Given the description of an element on the screen output the (x, y) to click on. 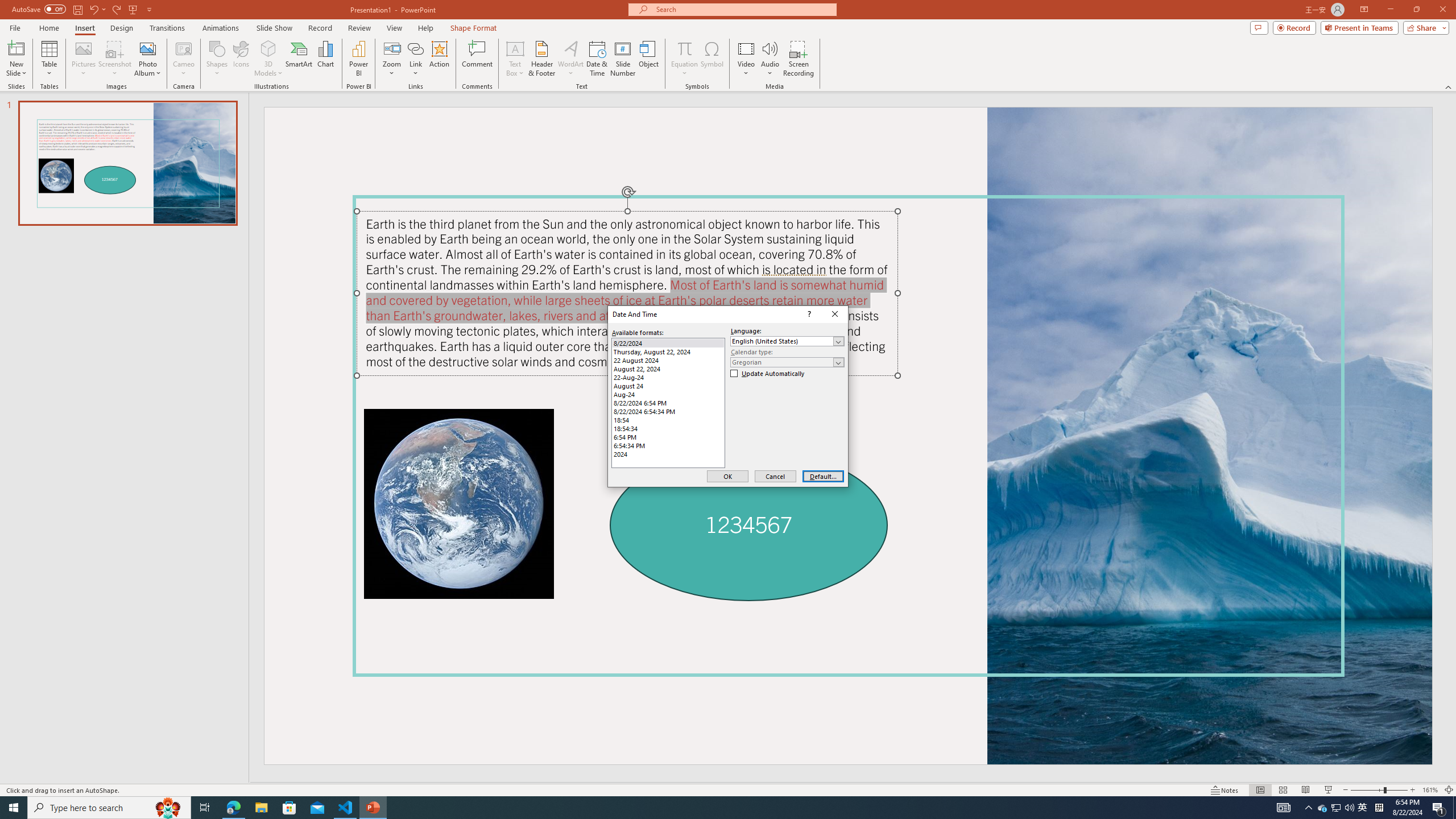
Power BI (358, 58)
Task View (204, 807)
Thursday, August 22, 2024 (667, 351)
Pictures (83, 58)
Video (745, 58)
Table (49, 58)
18:54 (667, 420)
